Given the description of an element on the screen output the (x, y) to click on. 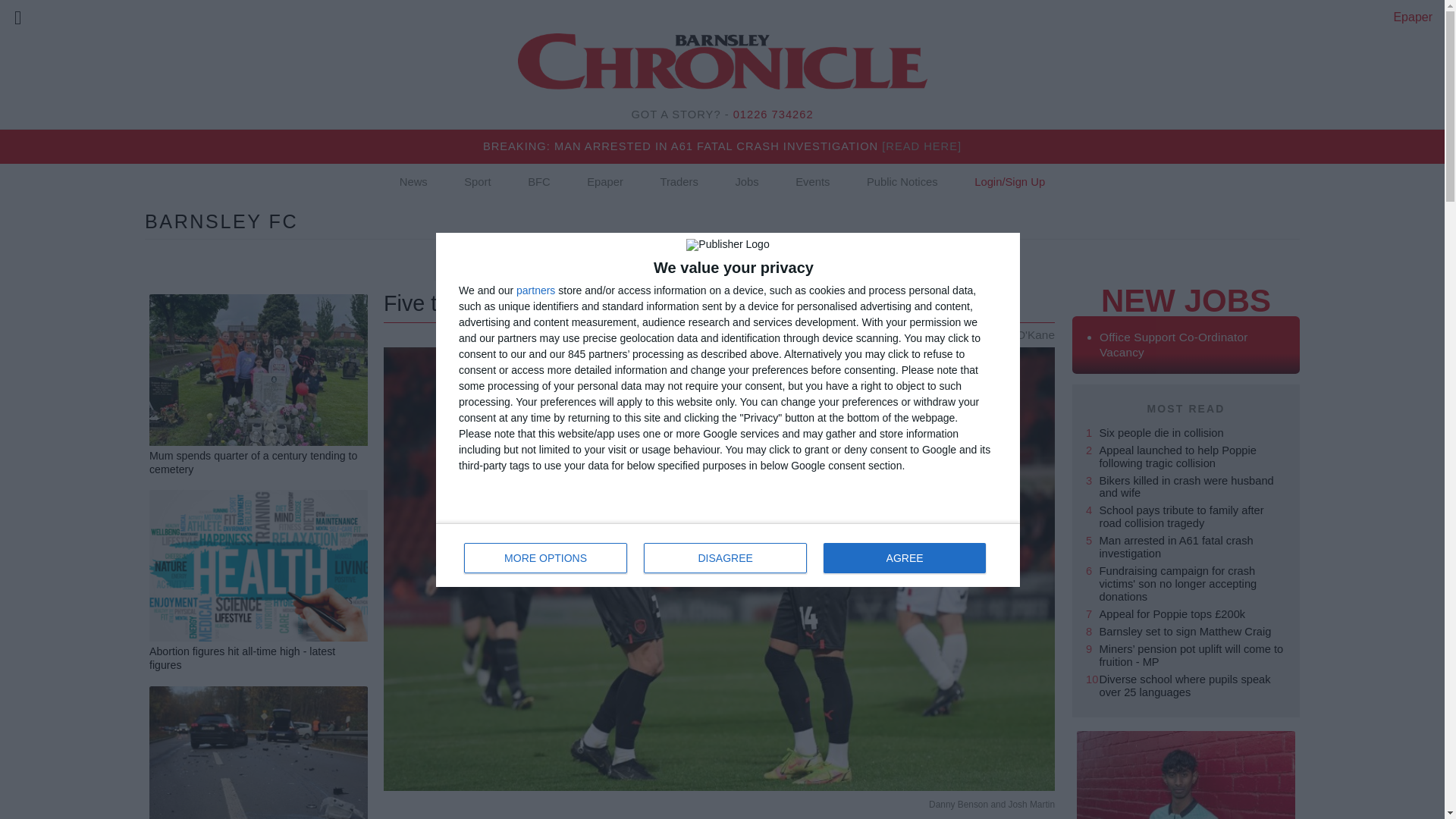
AGREE (904, 557)
Sport (477, 182)
partners (535, 290)
01226 734262 (773, 114)
News (413, 182)
Epaper (604, 182)
BFC (539, 182)
Public Notices (727, 555)
Traders (902, 182)
Events (678, 182)
BARNSLEY FC (812, 182)
Jobs (221, 220)
MORE OPTIONS (745, 182)
DISAGREE (545, 557)
